Given the description of an element on the screen output the (x, y) to click on. 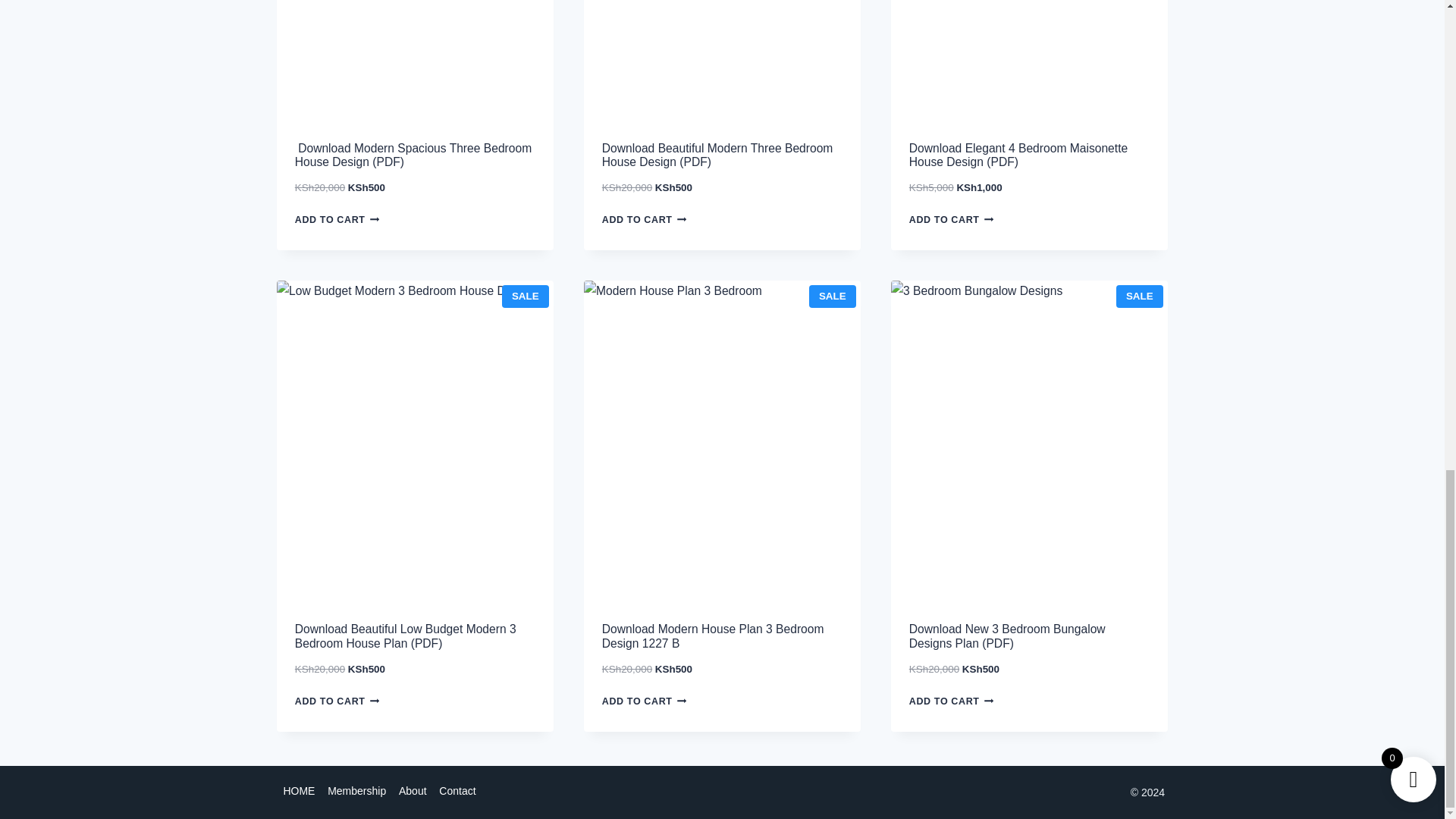
ADD TO CART (955, 220)
Elegant 4 Bedroom Maisonette House Design (1029, 61)
Low Budget Modern 3 Bedroom House Design (414, 442)
ADD TO CART (341, 220)
ADD TO CART (648, 220)
3 Bedroom Bungalow Designs (1029, 442)
Download Modern House Plan 3 Bedroom Design 1227 B (722, 633)
ADD TO CART (341, 700)
